Given the description of an element on the screen output the (x, y) to click on. 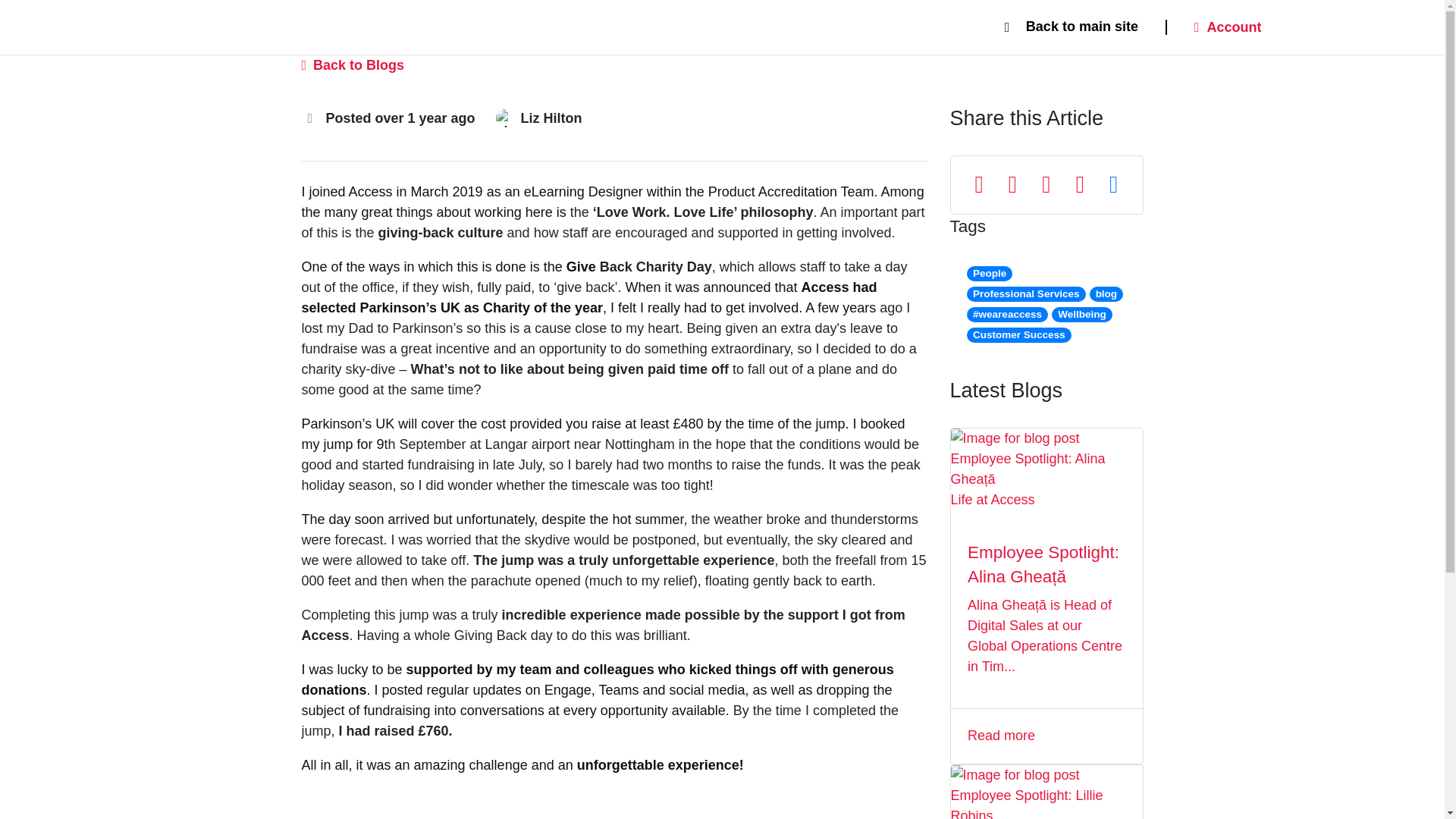
Account (1227, 27)
Go to the Homepage (240, 26)
People (988, 273)
WhatsApp (1079, 184)
Email (1113, 184)
Wellbeing (1081, 314)
Author (504, 117)
Publish Date (309, 117)
Facebook (1012, 184)
